Given the description of an element on the screen output the (x, y) to click on. 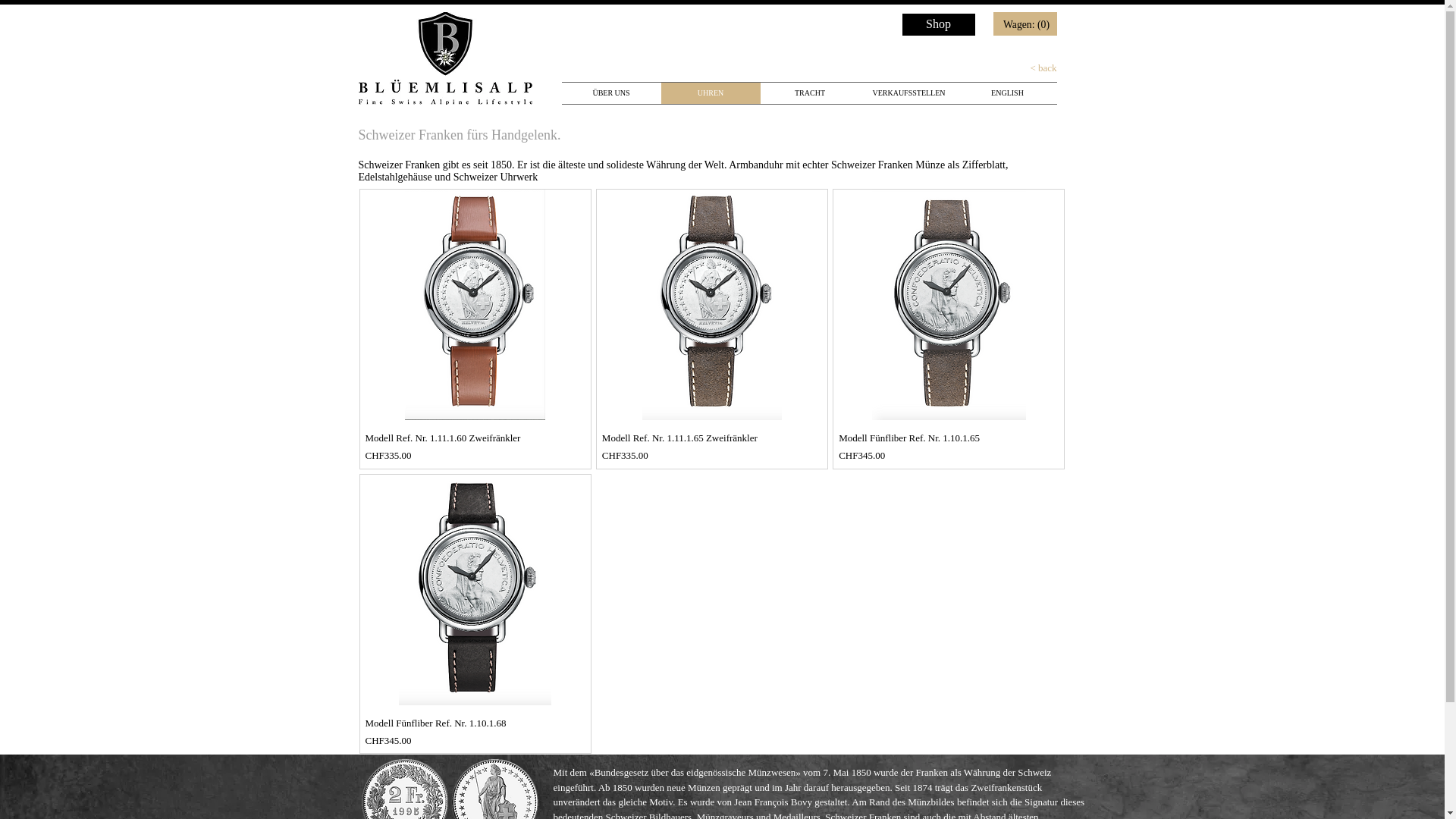
< back Element type: text (1011, 67)
Wagen: (0) Element type: text (1027, 24)
Shop Element type: text (938, 24)
ENGLISH Element type: text (1007, 92)
Bluemlisalp_komplett (1).jpg Element type: hover (444, 58)
VERKAUFSSTELLEN Element type: text (908, 92)
UHREN Element type: text (710, 92)
TRACHT Element type: text (809, 92)
